Given the description of an element on the screen output the (x, y) to click on. 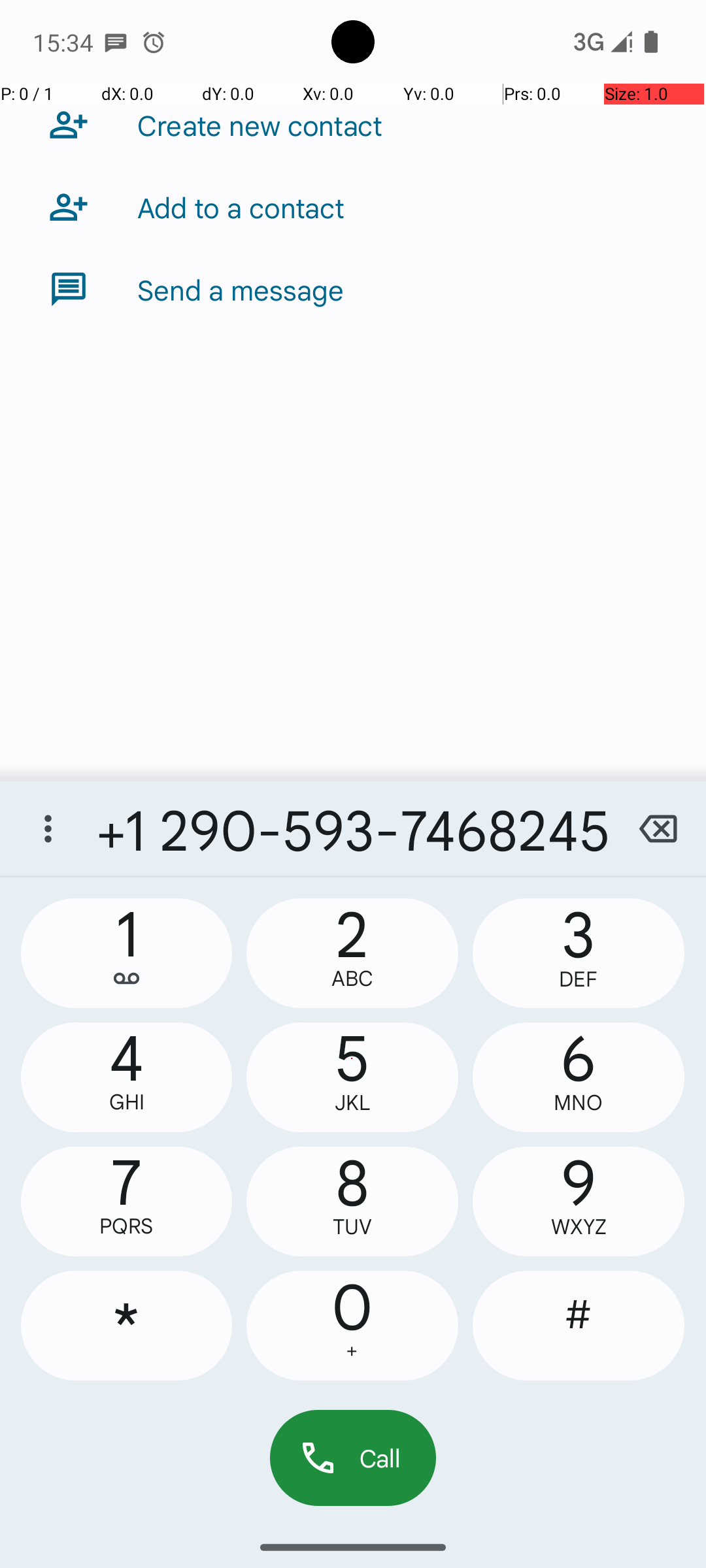
+1 290-593-7468245 Element type: android.widget.EditText (352, 828)
